Given the description of an element on the screen output the (x, y) to click on. 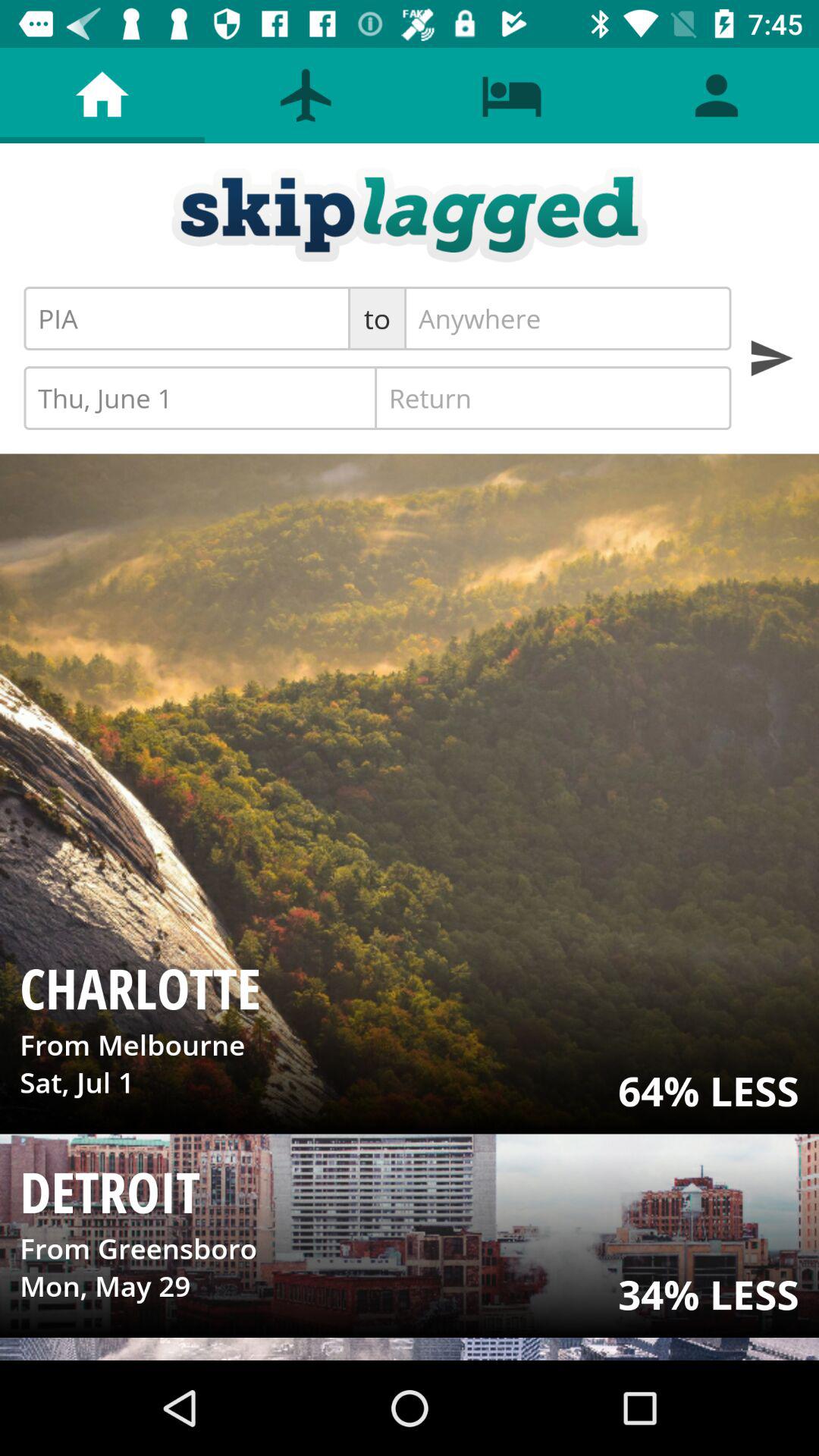
turn off icon below the to (553, 397)
